Given the description of an element on the screen output the (x, y) to click on. 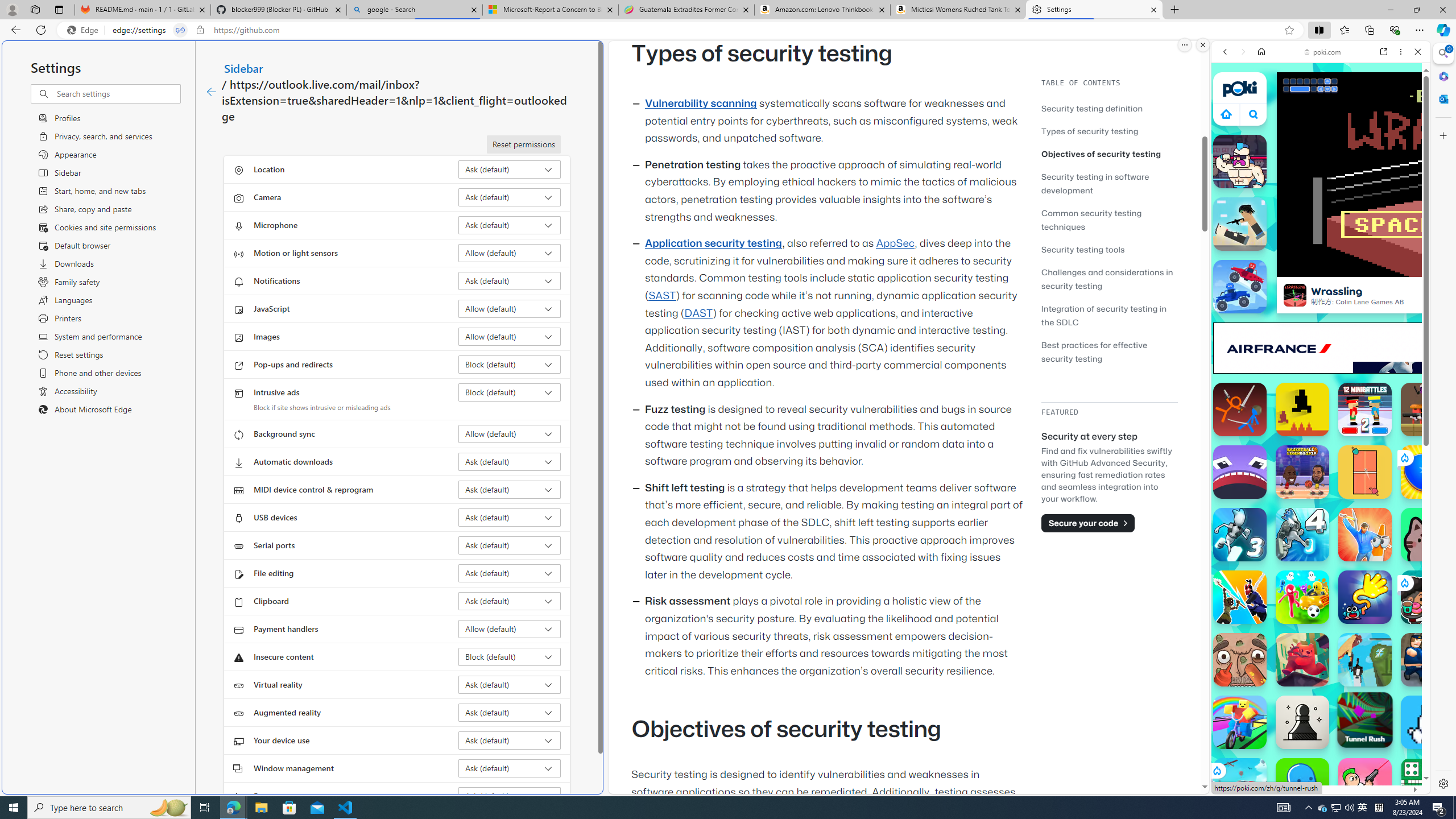
Hills of Steel (1264, 523)
Edge (84, 29)
Class: rCs5cyEiqiTpYvt_VBCR (1216, 770)
Show More Io Games (1390, 351)
Battle Wheels Battle Wheels (1239, 286)
Crazy Cars (1419, 574)
JavaScript Allow (default) (509, 308)
Challenges and considerations in security testing (1107, 278)
Stickman Fight: Ragdoll (1239, 409)
Escape From School Escape From School (1427, 659)
Io Games (1320, 351)
Gobble Gobble (1239, 471)
